Given the description of an element on the screen output the (x, y) to click on. 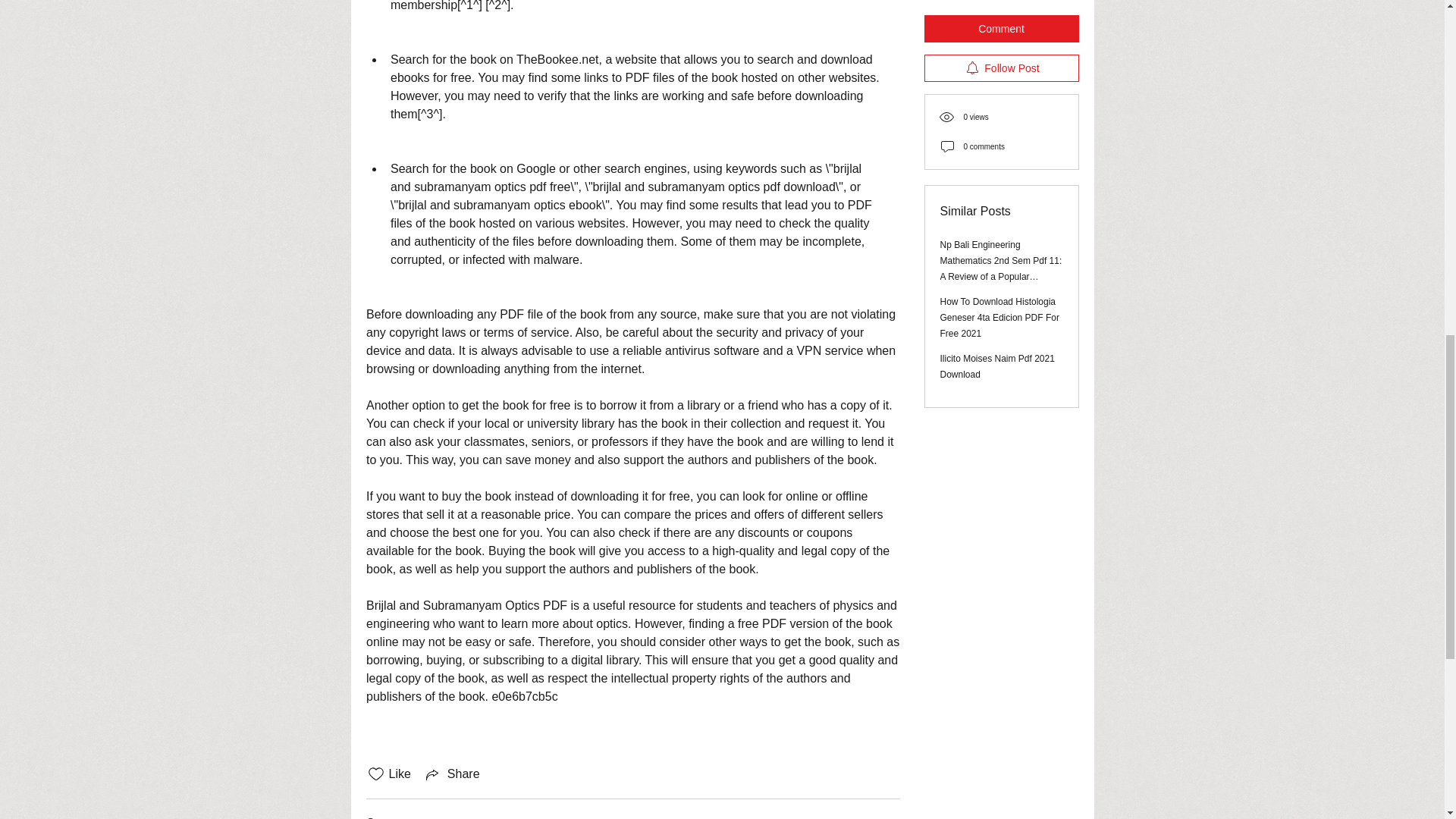
Share (451, 773)
